Given the description of an element on the screen output the (x, y) to click on. 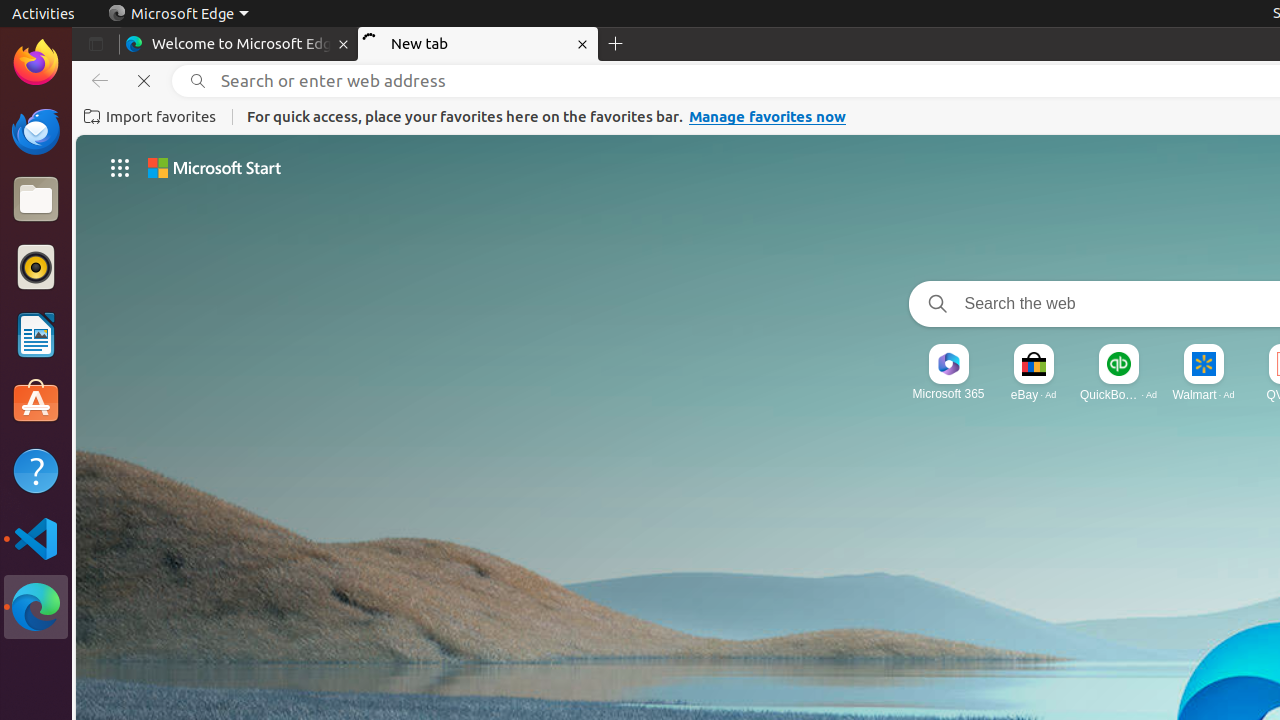
QuickBooks · Ad Element type: link (1118, 393)
eBay · Ad Element type: link (1033, 393)
Files Element type: push-button (36, 199)
Microsoft Edge Element type: push-button (36, 607)
Thunderbird Mail Element type: push-button (36, 131)
